Given the description of an element on the screen output the (x, y) to click on. 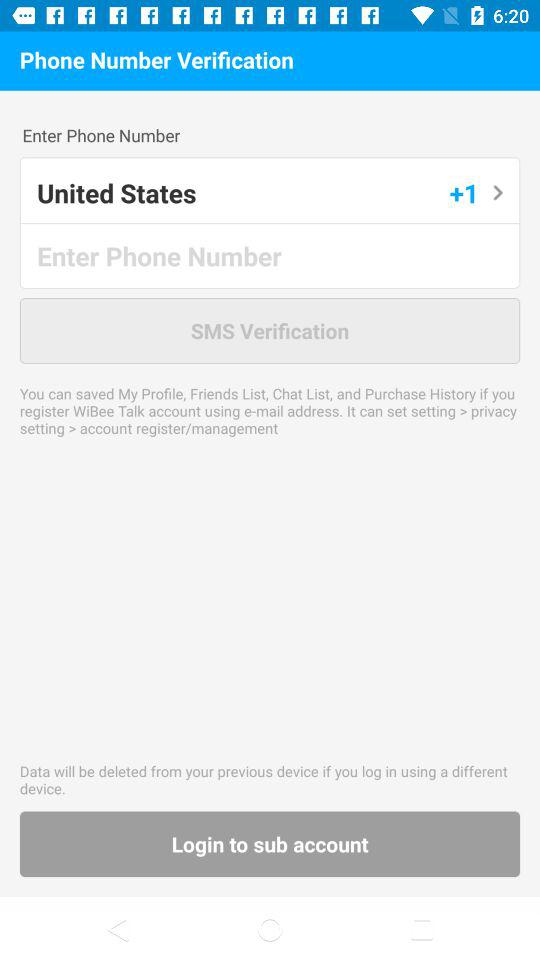
turn on the sms verification app (269, 330)
